Given the description of an element on the screen output the (x, y) to click on. 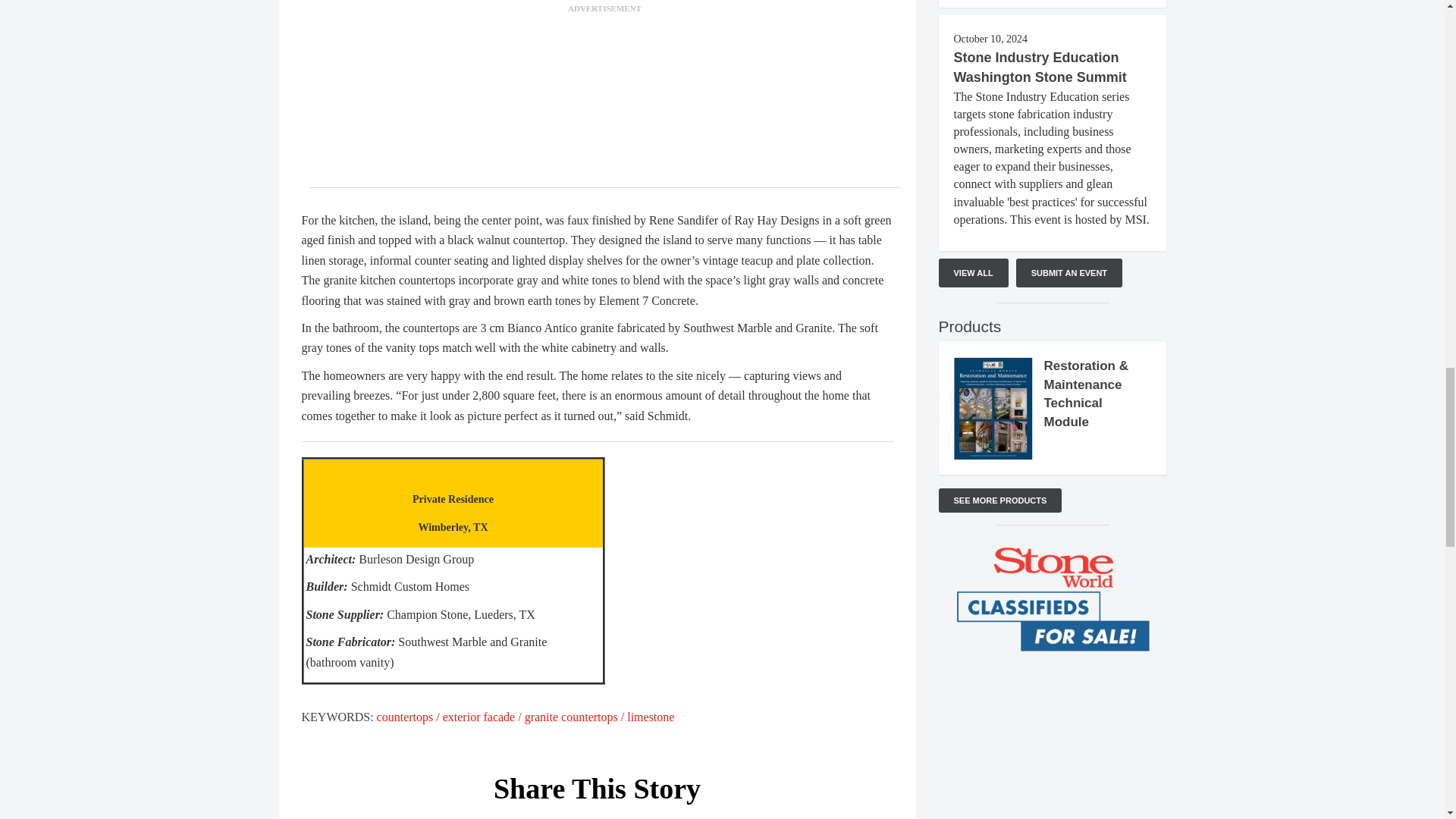
Stone Industry Education Washington Stone Summit (1039, 67)
Interaction questions (1052, 738)
